Given the description of an element on the screen output the (x, y) to click on. 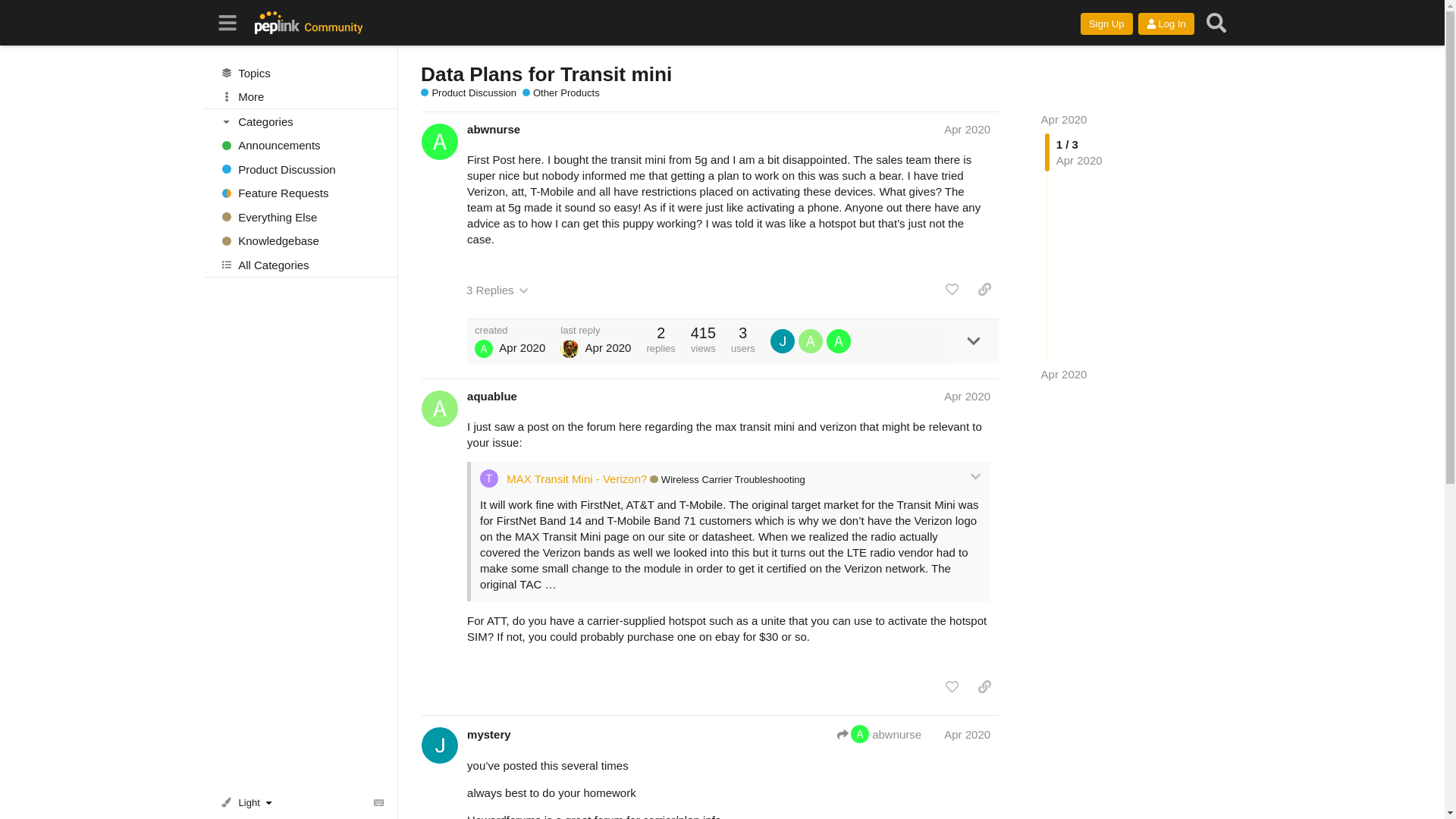
Feature Requests (301, 192)
Data Plans for Transit mini (545, 74)
Search (1215, 22)
last reply (595, 329)
Apr 2020 (966, 128)
Categories (301, 120)
Apr 2020 (1064, 119)
Light (249, 802)
All Topics (301, 72)
All Categories (301, 264)
Apr 2020 (1064, 374)
Product Discussion (468, 92)
Keyboard Shortcuts (378, 802)
